Given the description of an element on the screen output the (x, y) to click on. 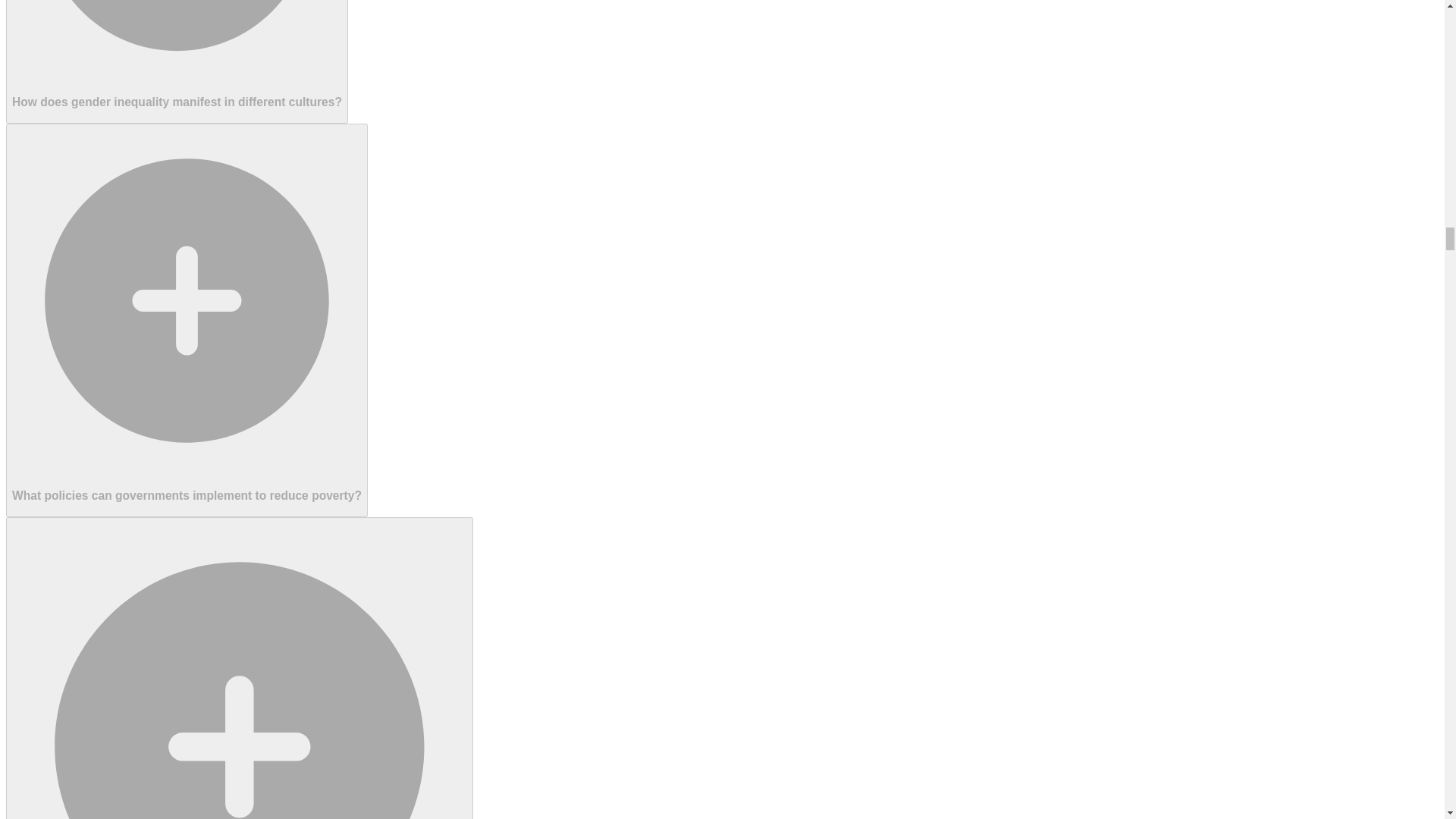
How does gender inequality manifest in different cultures? (176, 61)
